Given the description of an element on the screen output the (x, y) to click on. 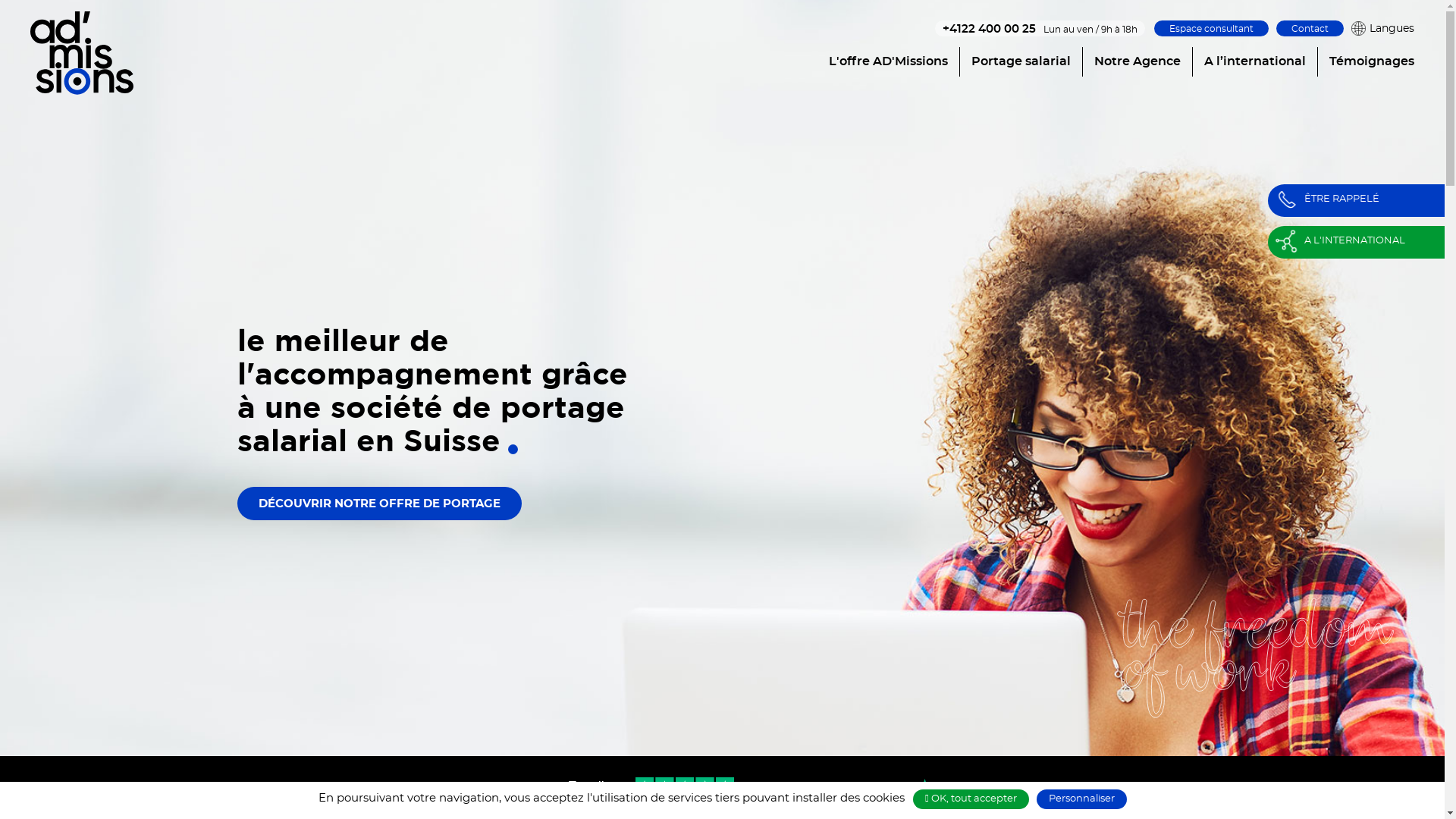
Portage salarial Element type: text (1021, 61)
Espace consultant Element type: text (1211, 28)
Notre Agence Element type: text (1137, 61)
Logo AD'missions Element type: text (81, 54)
Contact Element type: text (1309, 28)
Customer reviews powered by Trustpilot Element type: hover (722, 787)
Personnaliser Element type: text (1080, 799)
L'offre AD'Missions Element type: text (888, 61)
